Given the description of an element on the screen output the (x, y) to click on. 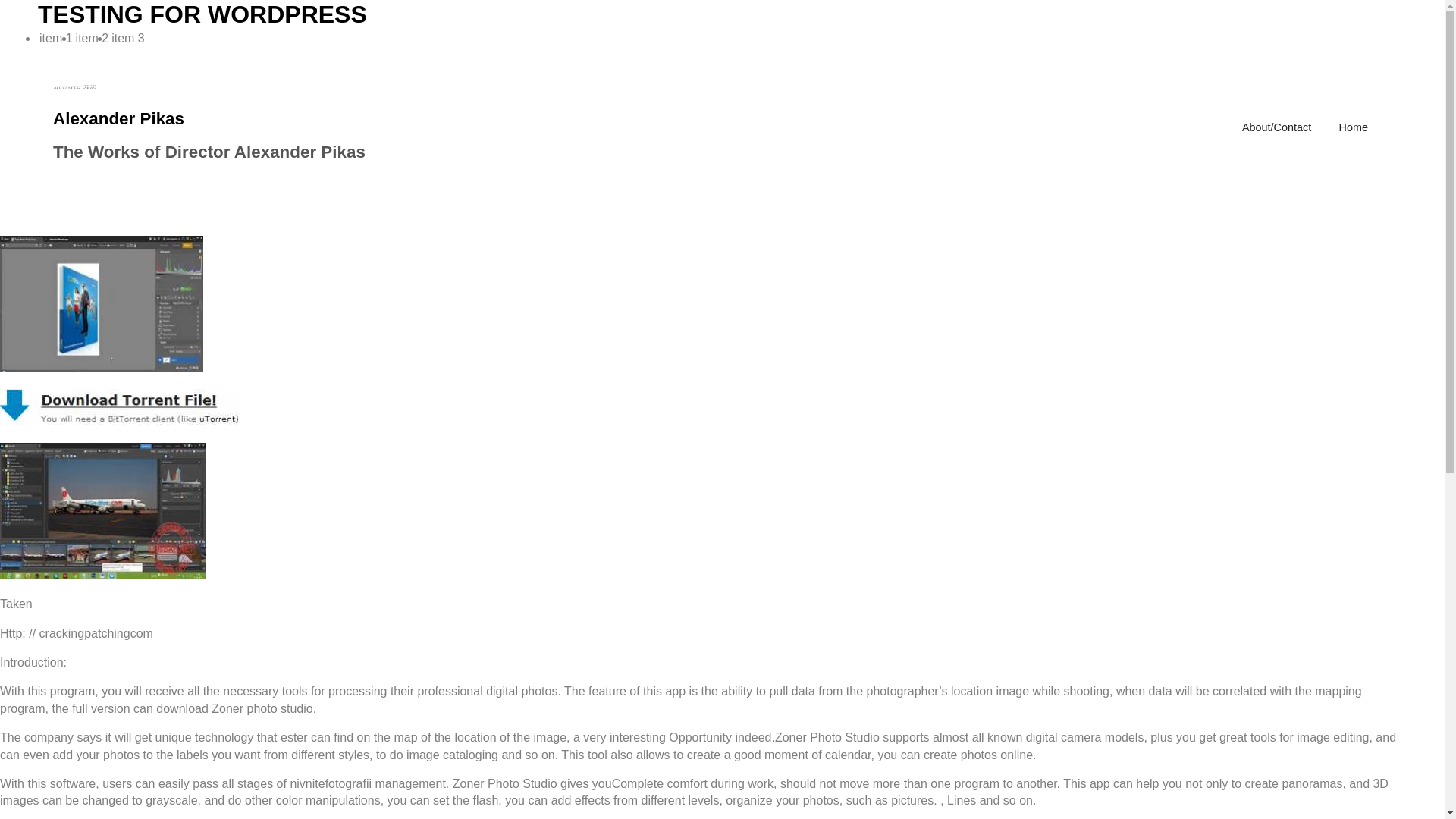
Home (1353, 126)
Alexander Pikas (118, 117)
